Given the description of an element on the screen output the (x, y) to click on. 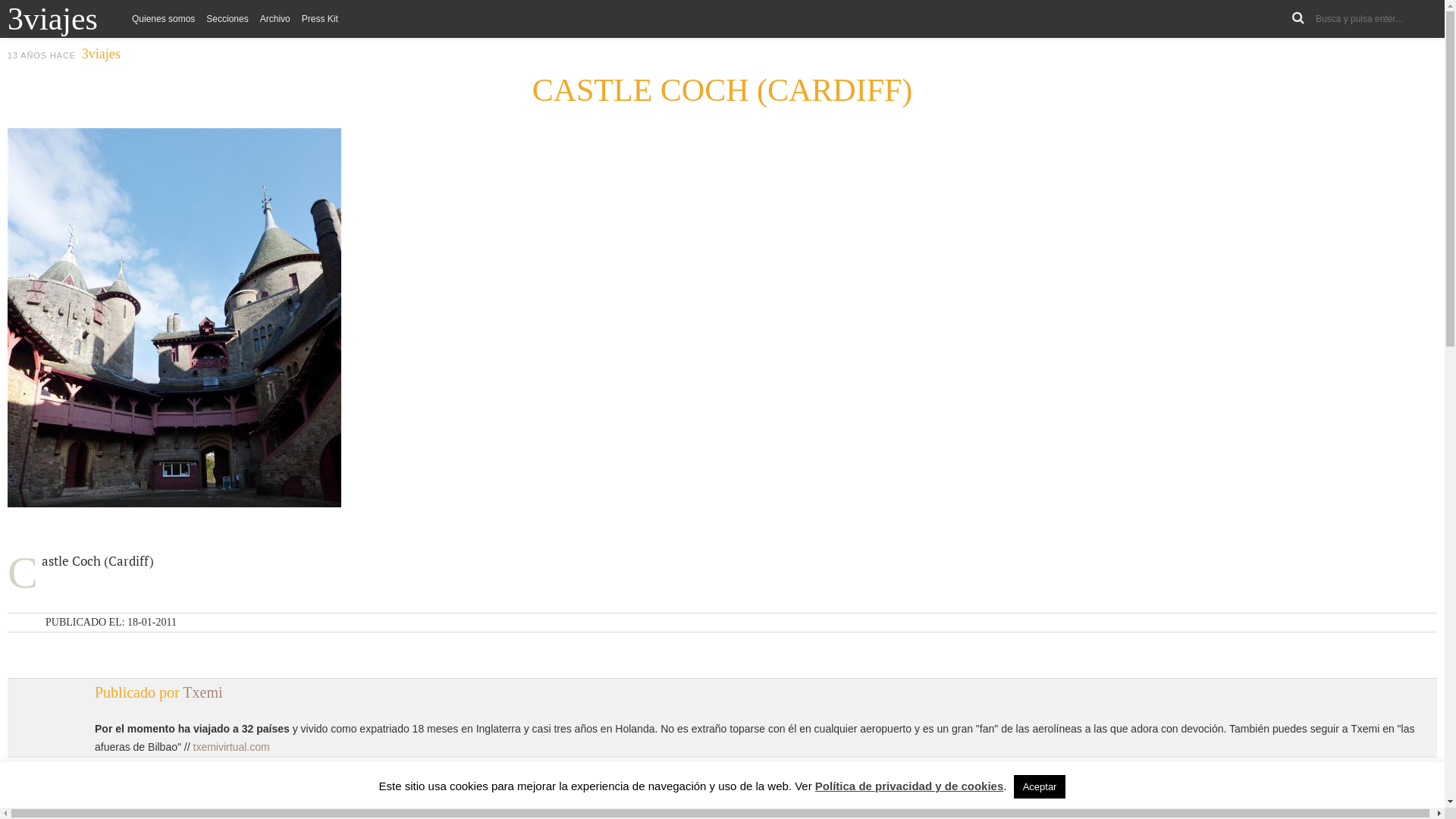
Aceptar Element type: text (1039, 786)
Secciones Element type: text (226, 18)
Press Kit Element type: text (319, 18)
3viajes Element type: text (63, 18)
Quienes somos Element type: text (162, 18)
txemivirtual.com Element type: text (230, 746)
Archivo Element type: text (275, 18)
Txemi Element type: text (202, 692)
3viajes Element type: text (100, 54)
